Given the description of an element on the screen output the (x, y) to click on. 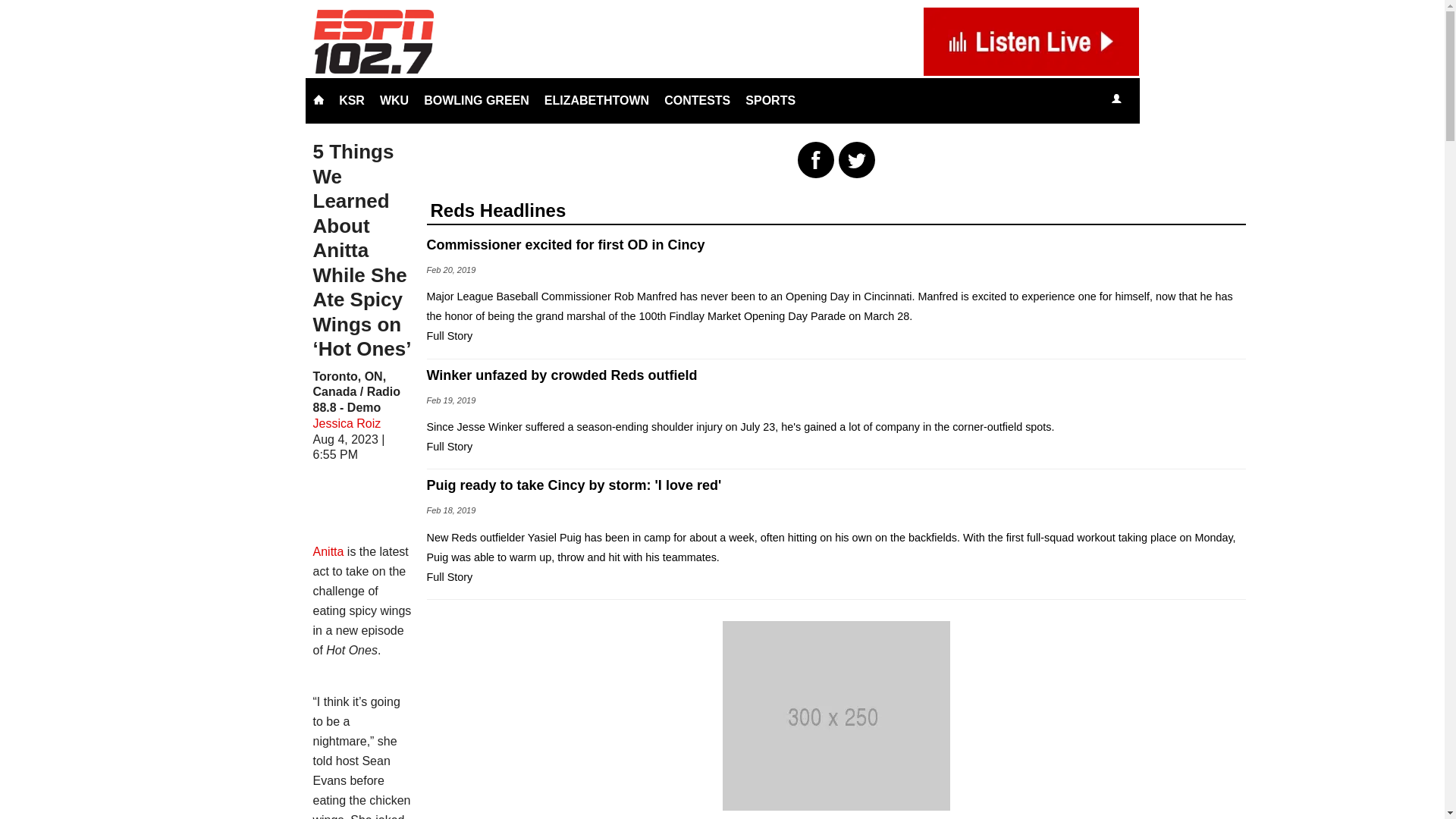
WKU (394, 100)
Full Story (449, 446)
Sign In (1115, 100)
Puig ready to take Cincy by storm: 'I love red' (836, 484)
CONTESTS (697, 100)
Anitta (328, 551)
ELIZABETHTOWN (596, 100)
KSR (351, 100)
SPORTS (770, 100)
Sign In (1116, 99)
Jessica Roiz (346, 422)
Full Story (449, 576)
Commissioner excited for first OD in Cincy (836, 244)
HOME (318, 99)
BOWLING GREEN (476, 100)
